Given the description of an element on the screen output the (x, y) to click on. 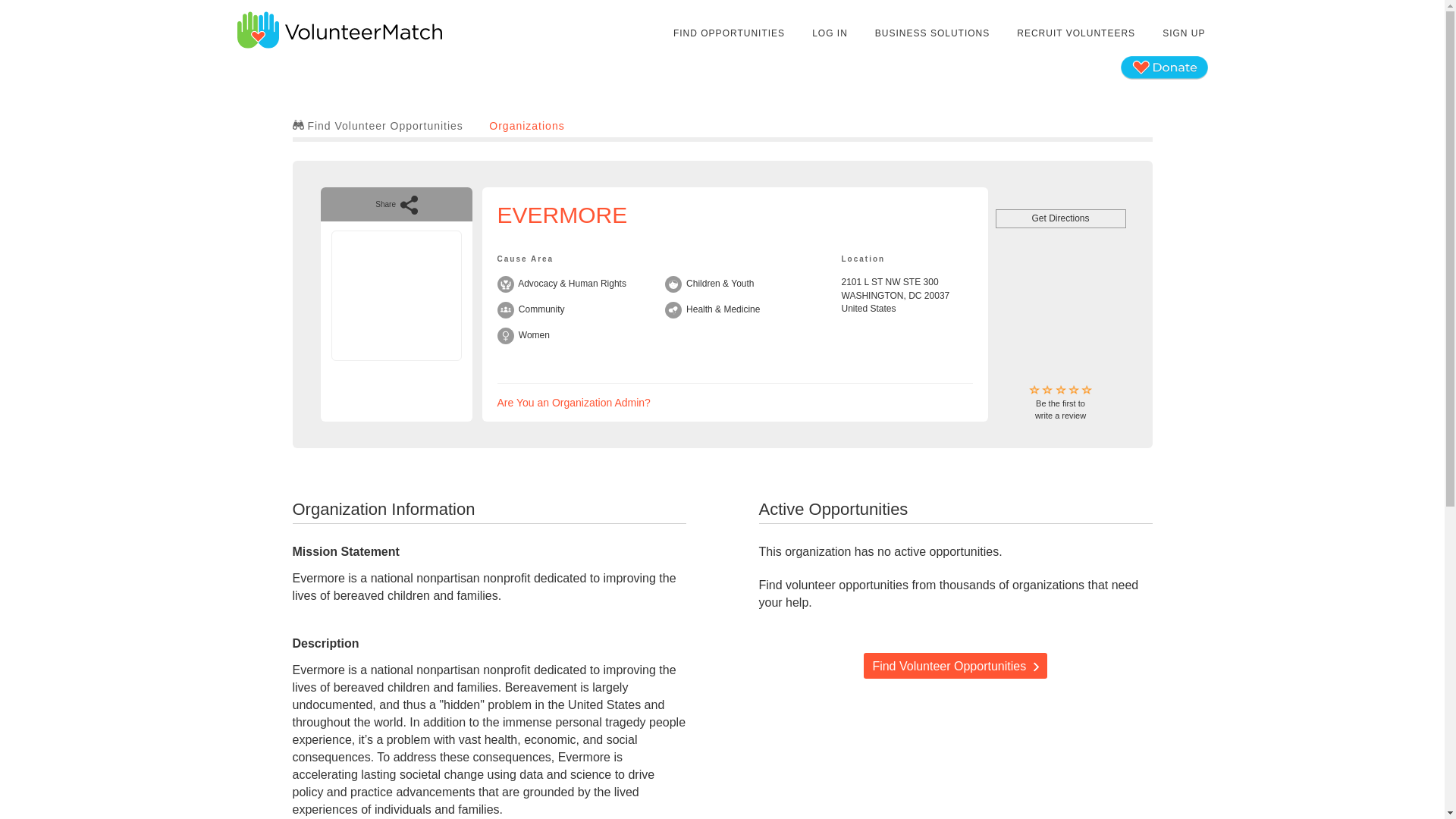
FIND OPPORTUNITIES (573, 402)
BUSINESS SOLUTIONS (729, 32)
SIGN UP (931, 32)
Get Directions (1183, 32)
Find Volunteer Opportunities (1059, 218)
Find Volunteer Opportunities (954, 665)
LOG IN (377, 125)
RECRUIT VOLUNTEERS (829, 32)
Organizations (1075, 32)
